Given the description of an element on the screen output the (x, y) to click on. 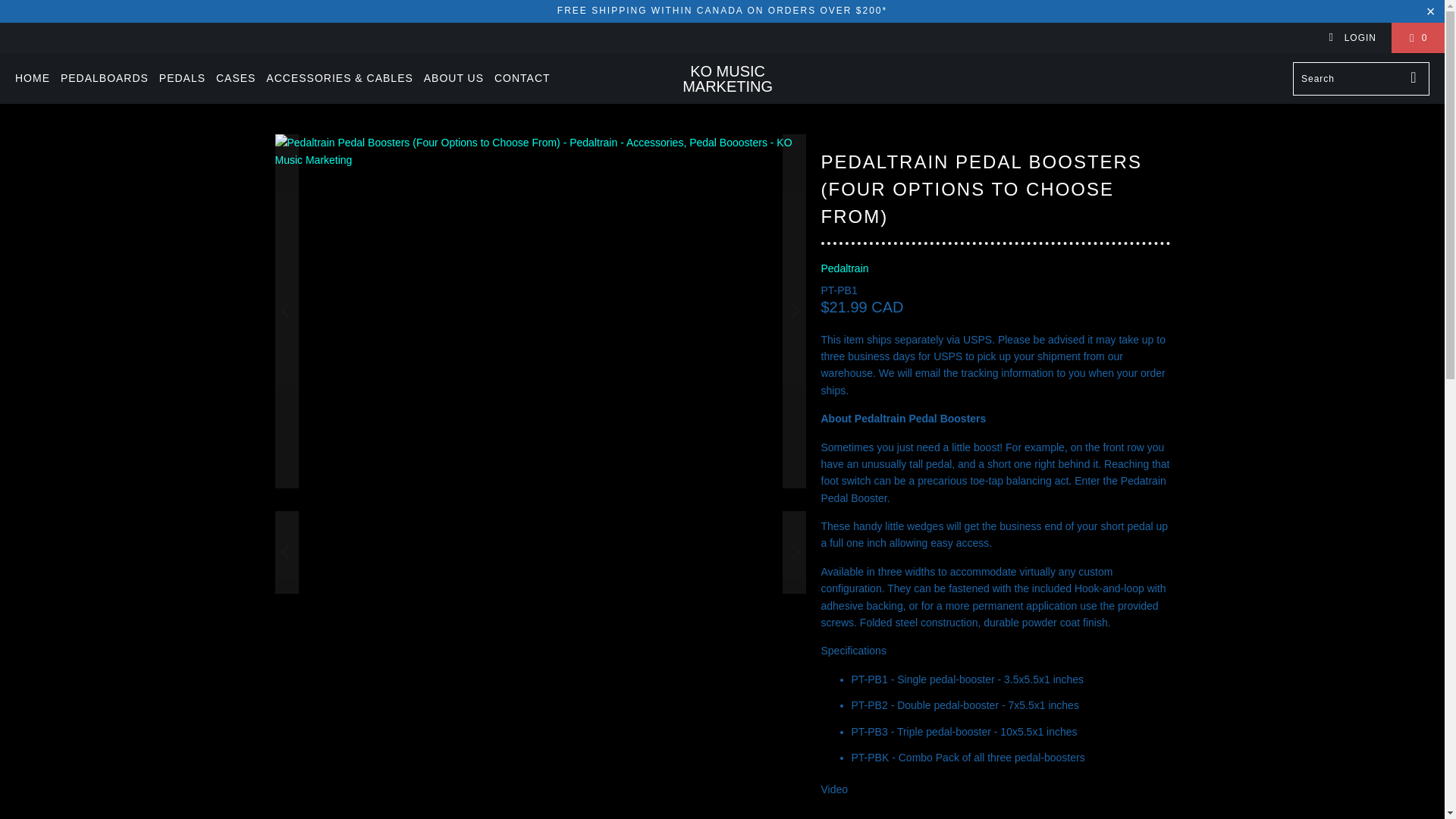
PEDALBOARDS (104, 78)
HOME (31, 78)
CASES (235, 78)
My Account  (1351, 37)
Pedaltrain (844, 268)
PEDALS (181, 78)
KO Music Marketing (727, 78)
LOGIN (1351, 37)
